Given the description of an element on the screen output the (x, y) to click on. 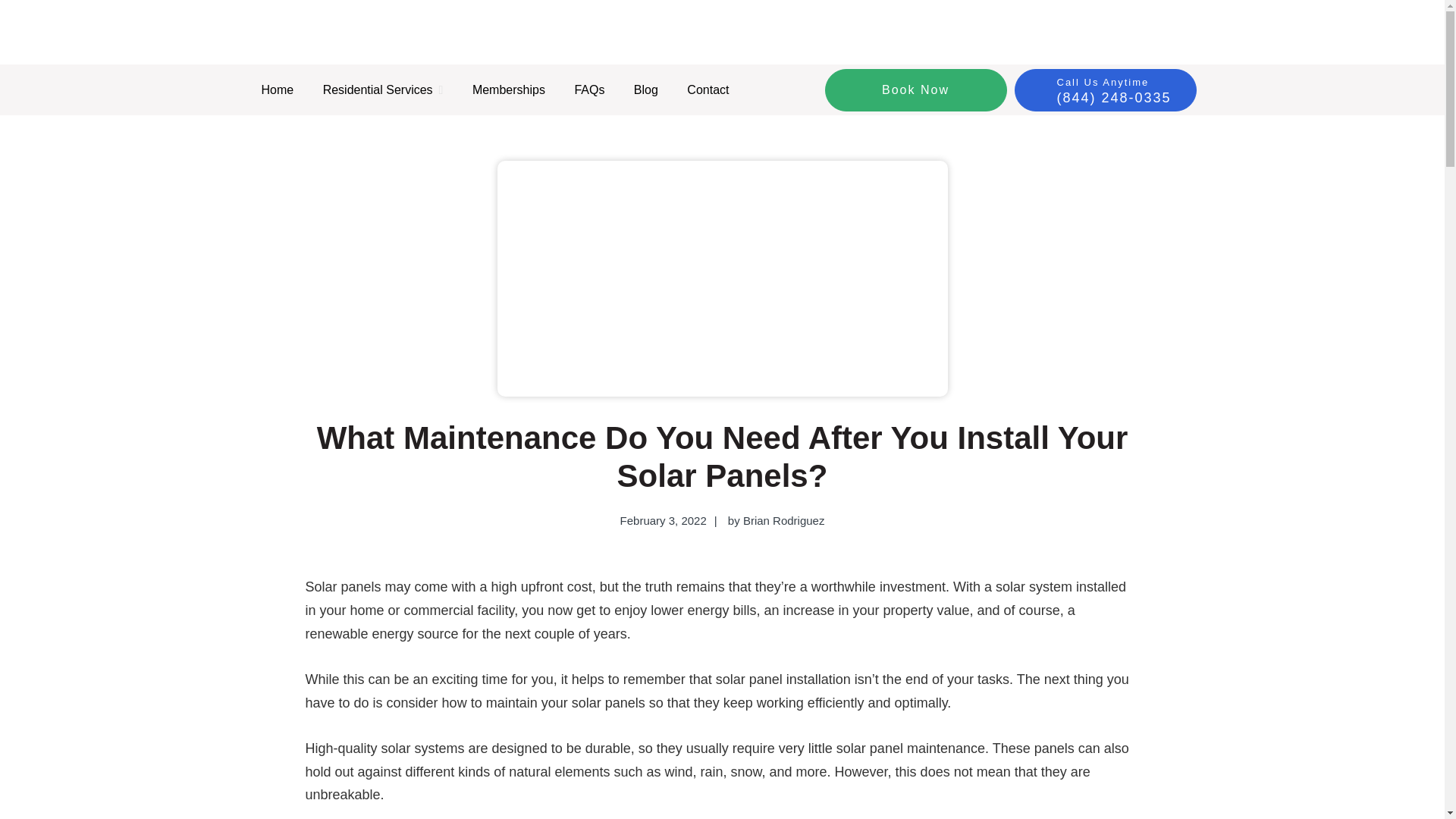
Contact (707, 89)
Book Now (916, 88)
Home (277, 89)
Blog (646, 89)
FAQs (588, 89)
Memberships (508, 89)
Brian Rodriguez (783, 520)
SOLAR SERVICE (370, 82)
Residential Services (383, 89)
